Given the description of an element on the screen output the (x, y) to click on. 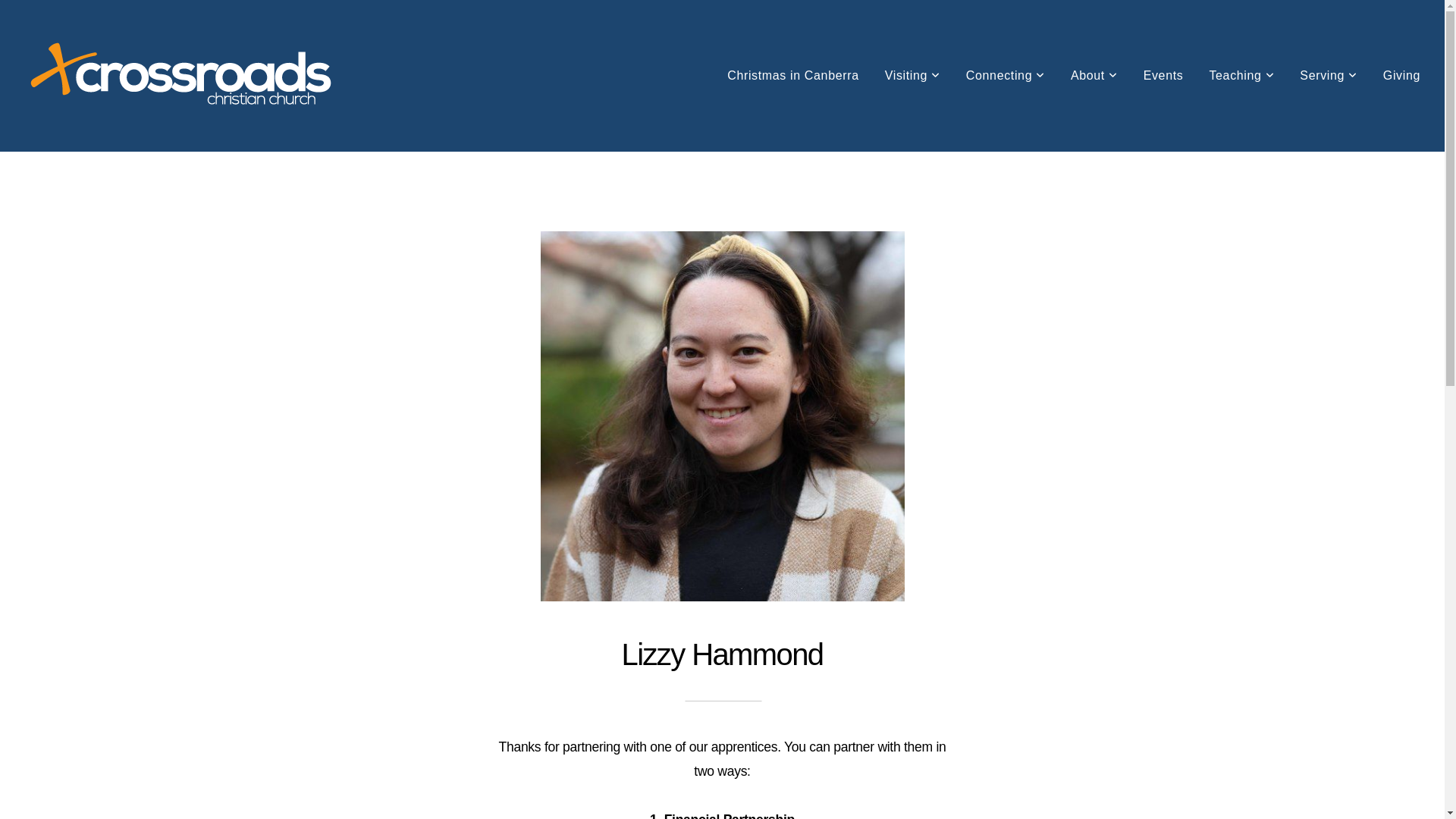
Giving Element type: text (1401, 75)
About  Element type: text (1094, 75)
Connecting  Element type: text (1005, 75)
Teaching  Element type: text (1241, 75)
Serving  Element type: text (1328, 75)
Events Element type: text (1163, 75)
Christmas in Canberra Element type: text (792, 75)
Visiting  Element type: text (912, 75)
